Given the description of an element on the screen output the (x, y) to click on. 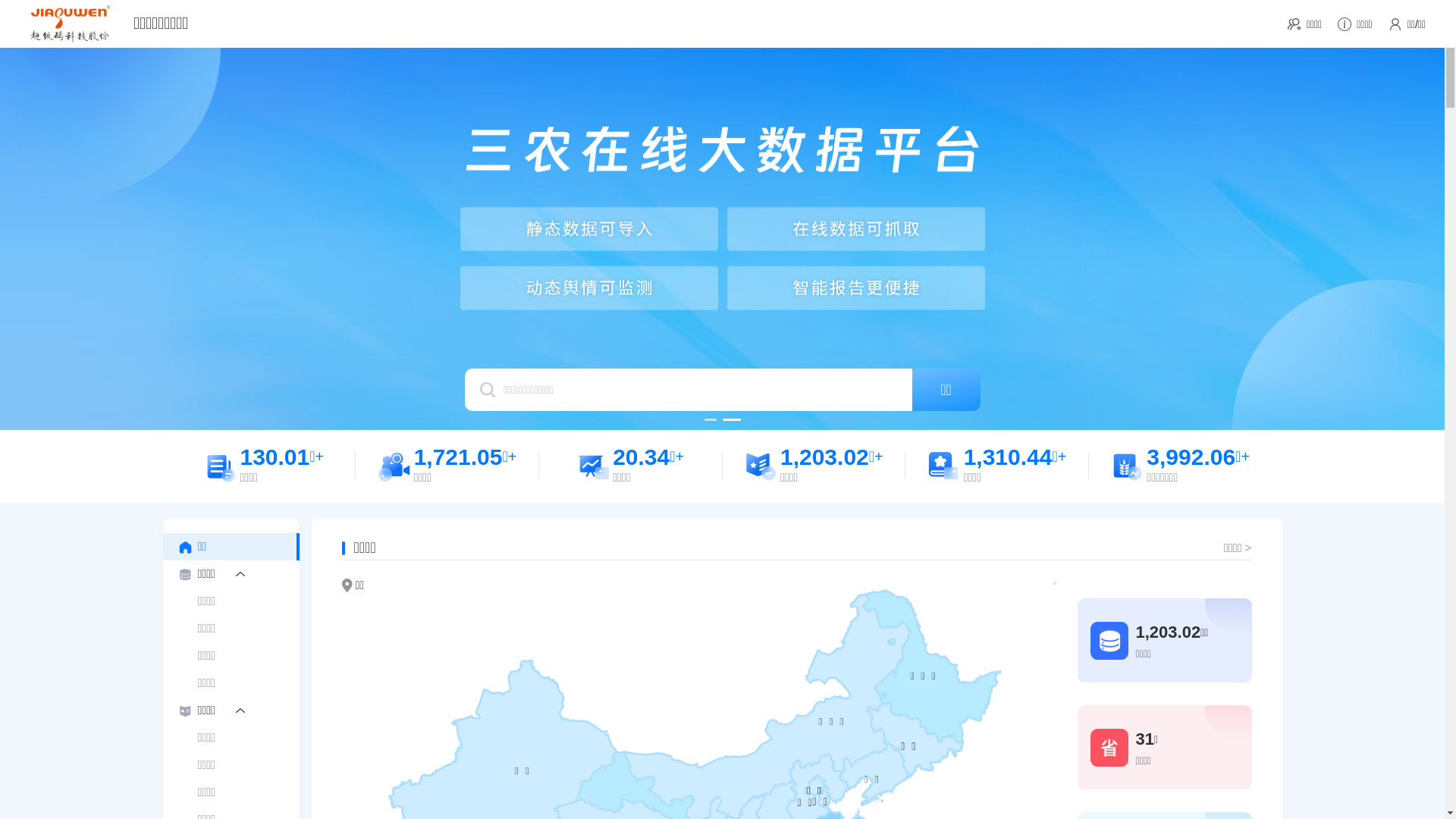
2 Element type: text (731, 419)
1 Element type: text (709, 419)
